Given the description of an element on the screen output the (x, y) to click on. 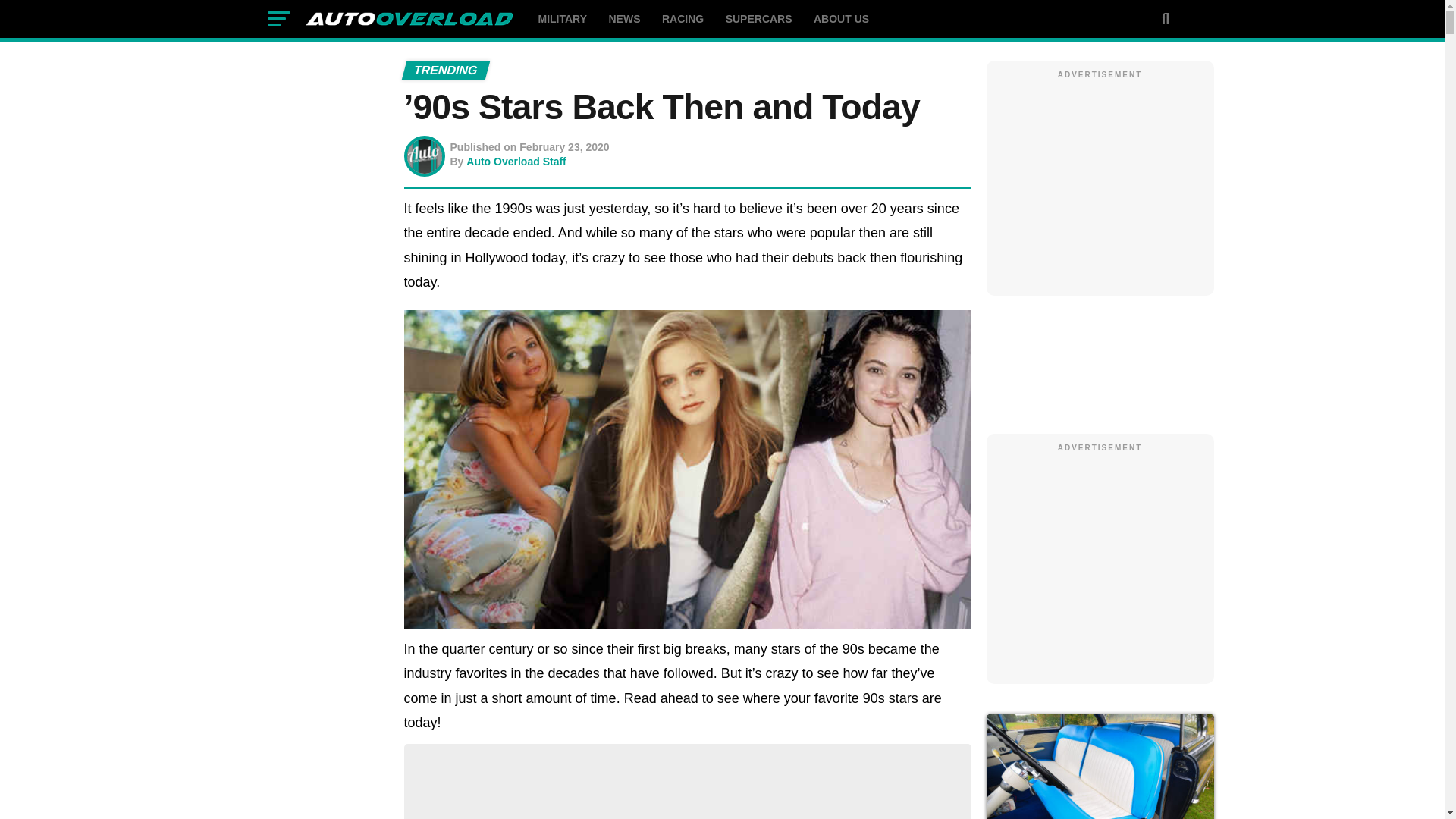
NEWS (623, 18)
MILITARY (562, 18)
RACING (682, 18)
ABOUT US (841, 18)
SUPERCARS (759, 18)
Auto Overload Staff (515, 161)
Posts by Auto Overload Staff (515, 161)
facebook (1098, 363)
